Given the description of an element on the screen output the (x, y) to click on. 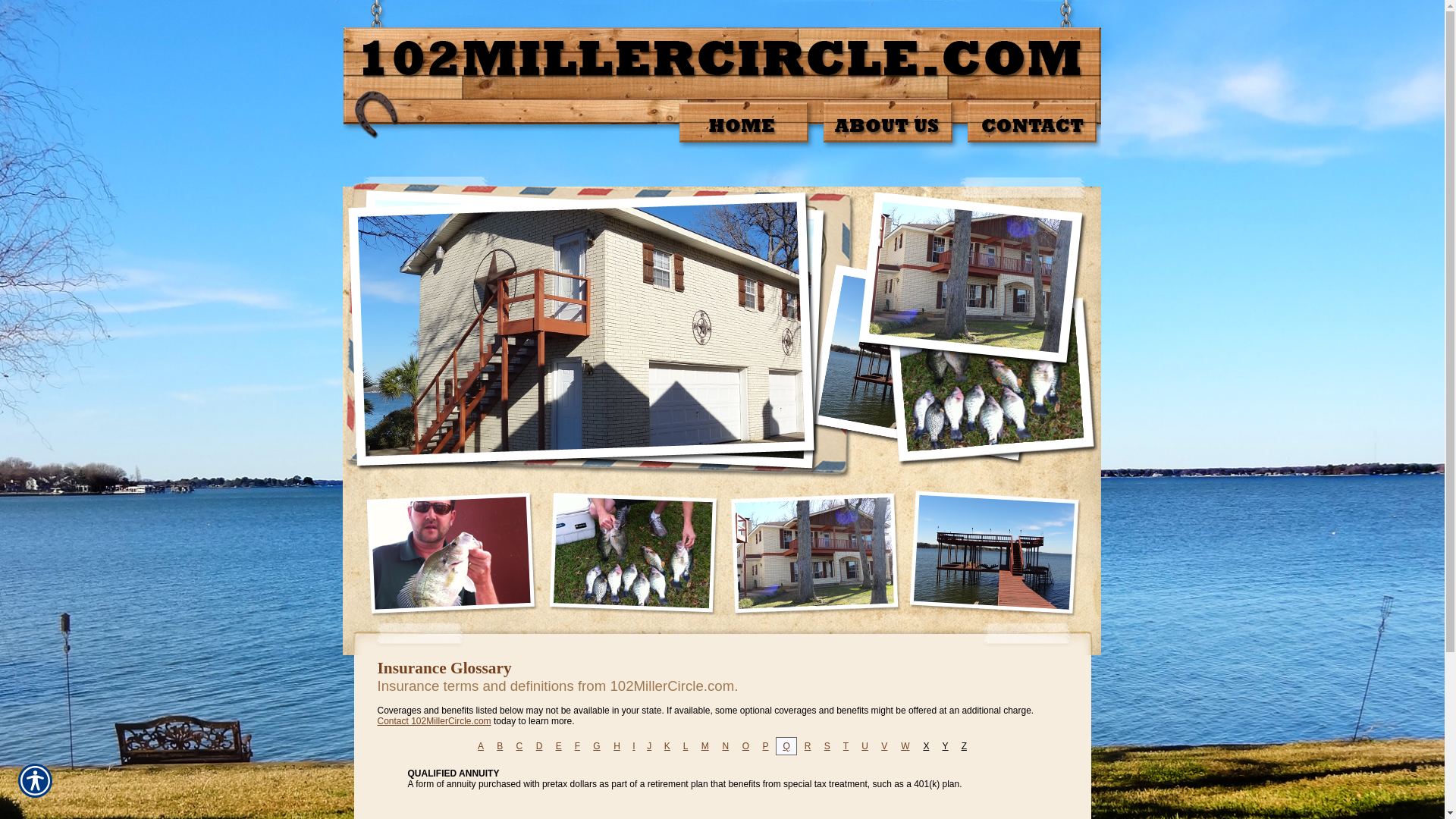
Z Element type: text (963, 745)
P Element type: text (765, 745)
E Element type: text (558, 745)
C Element type: text (519, 745)
A Element type: text (480, 745)
U Element type: text (864, 745)
K Element type: text (667, 745)
X Element type: text (925, 745)
V Element type: text (884, 745)
T Element type: text (845, 745)
F Element type: text (577, 745)
Toggle Accessibility Menu (Alt+A) Element type: hover (35, 780)
R Element type: text (807, 745)
H Element type: text (616, 745)
Q Element type: text (785, 745)
S Element type: text (827, 745)
B Element type: text (499, 745)
M Element type: text (705, 745)
D Element type: text (539, 745)
W Element type: text (904, 745)
O Element type: text (745, 745)
G Element type: text (596, 745)
Contact 102MillerCircle.com Element type: text (434, 720)
I Element type: text (633, 745)
L Element type: text (685, 745)
Y Element type: text (945, 745)
J Element type: text (648, 745)
N Element type: text (724, 745)
